Given the description of an element on the screen output the (x, y) to click on. 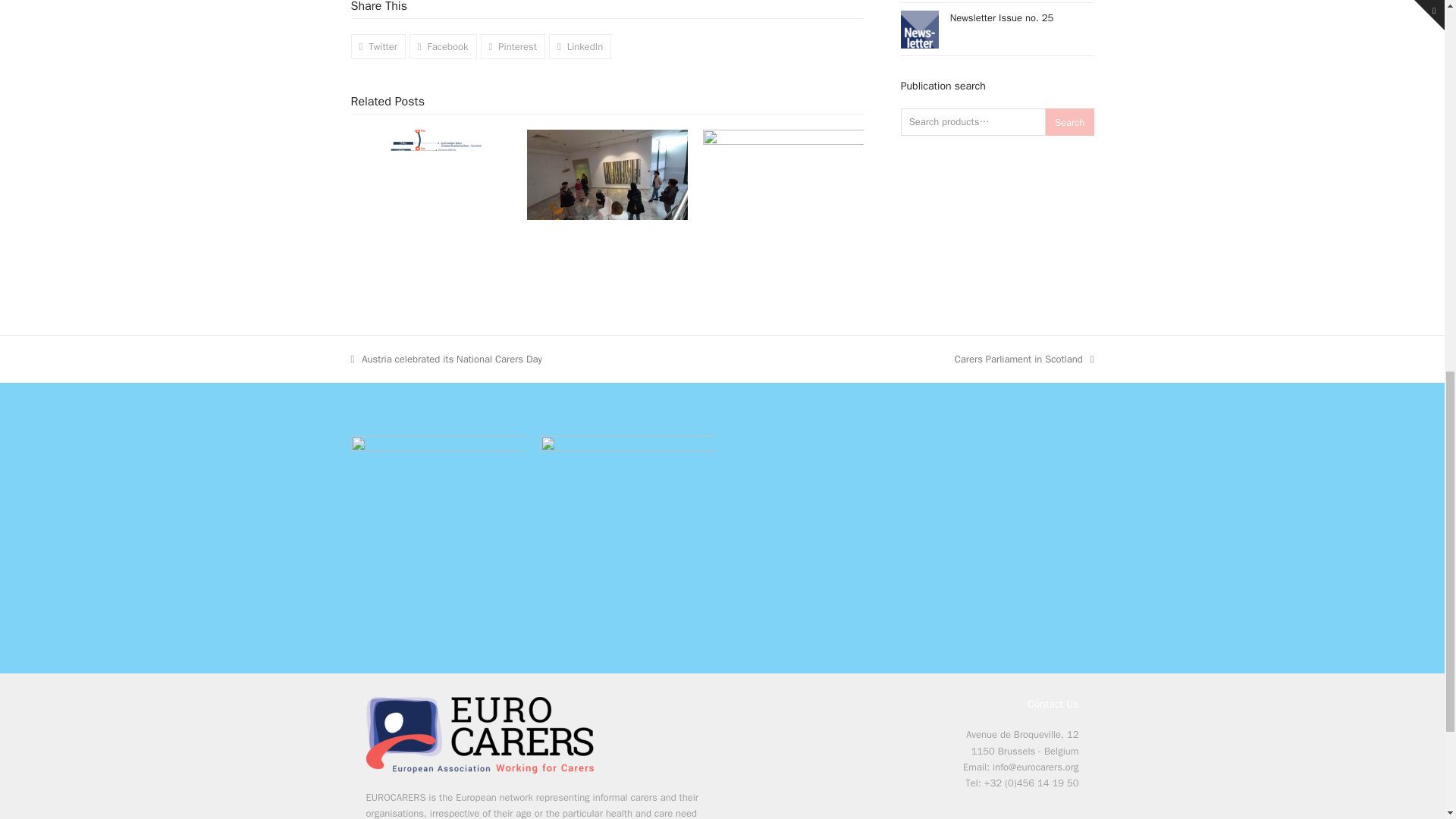
Timeline to new EN institutional leadership (430, 173)
